Given the description of an element on the screen output the (x, y) to click on. 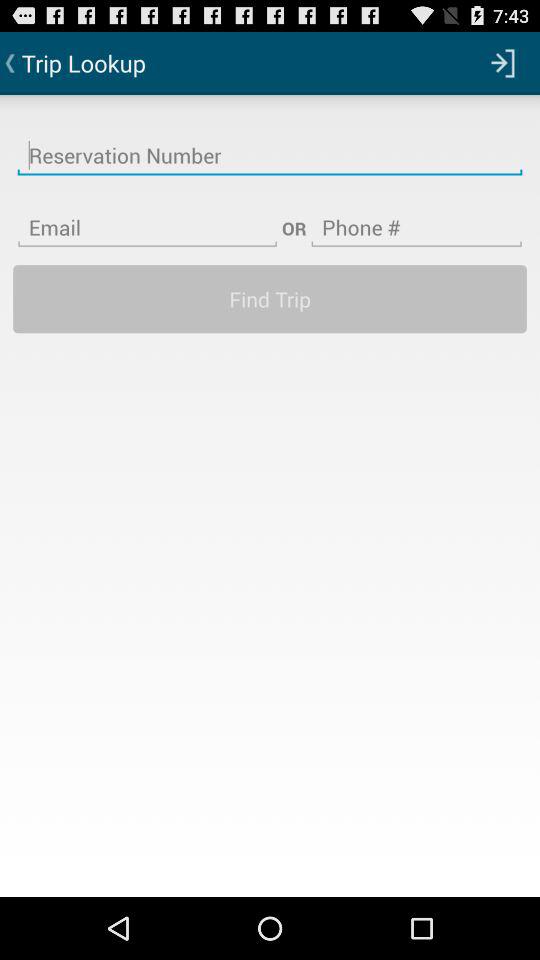
phone number entry (416, 215)
